Given the description of an element on the screen output the (x, y) to click on. 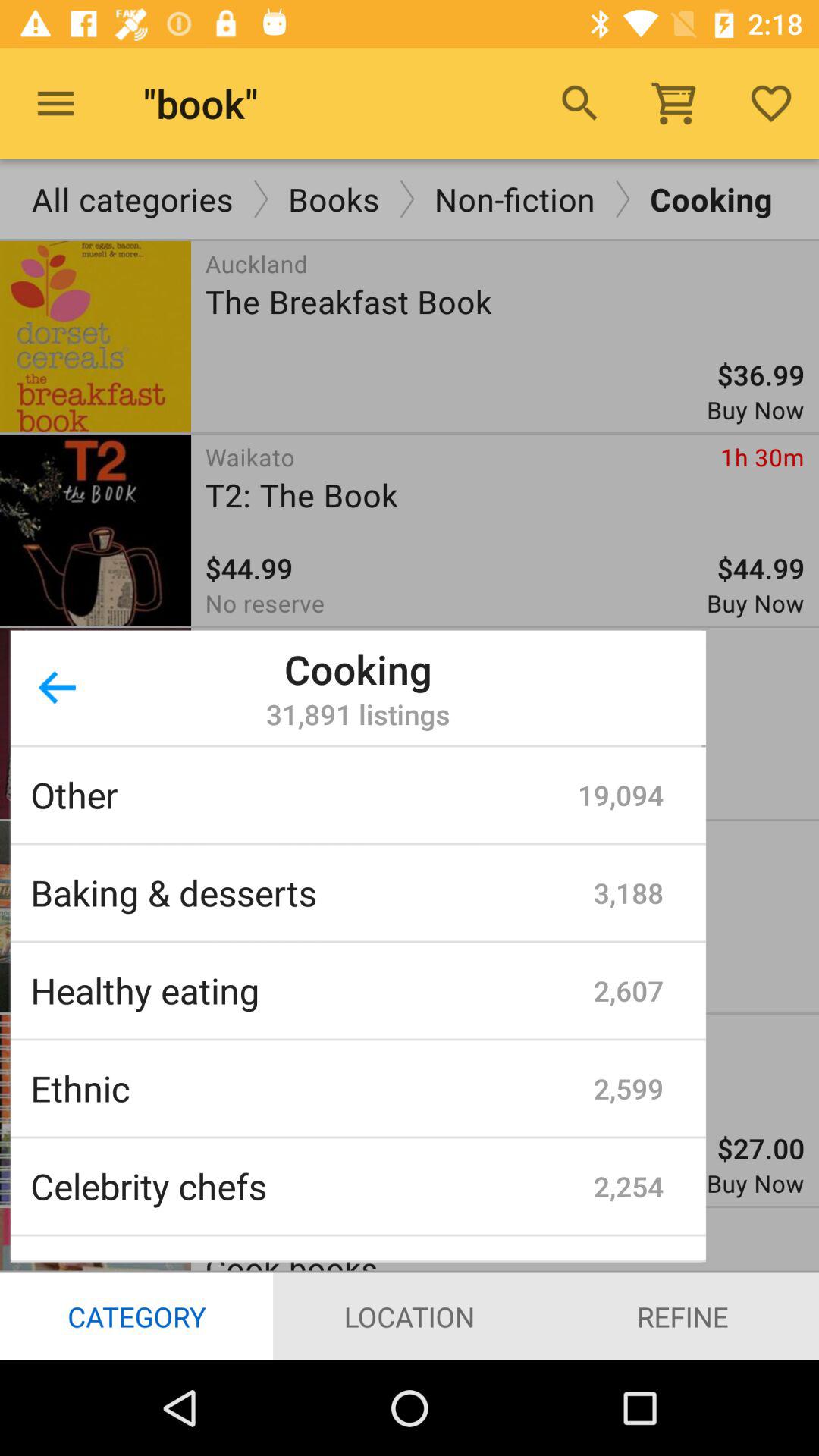
turn on the icon to the right of other item (620, 794)
